Given the description of an element on the screen output the (x, y) to click on. 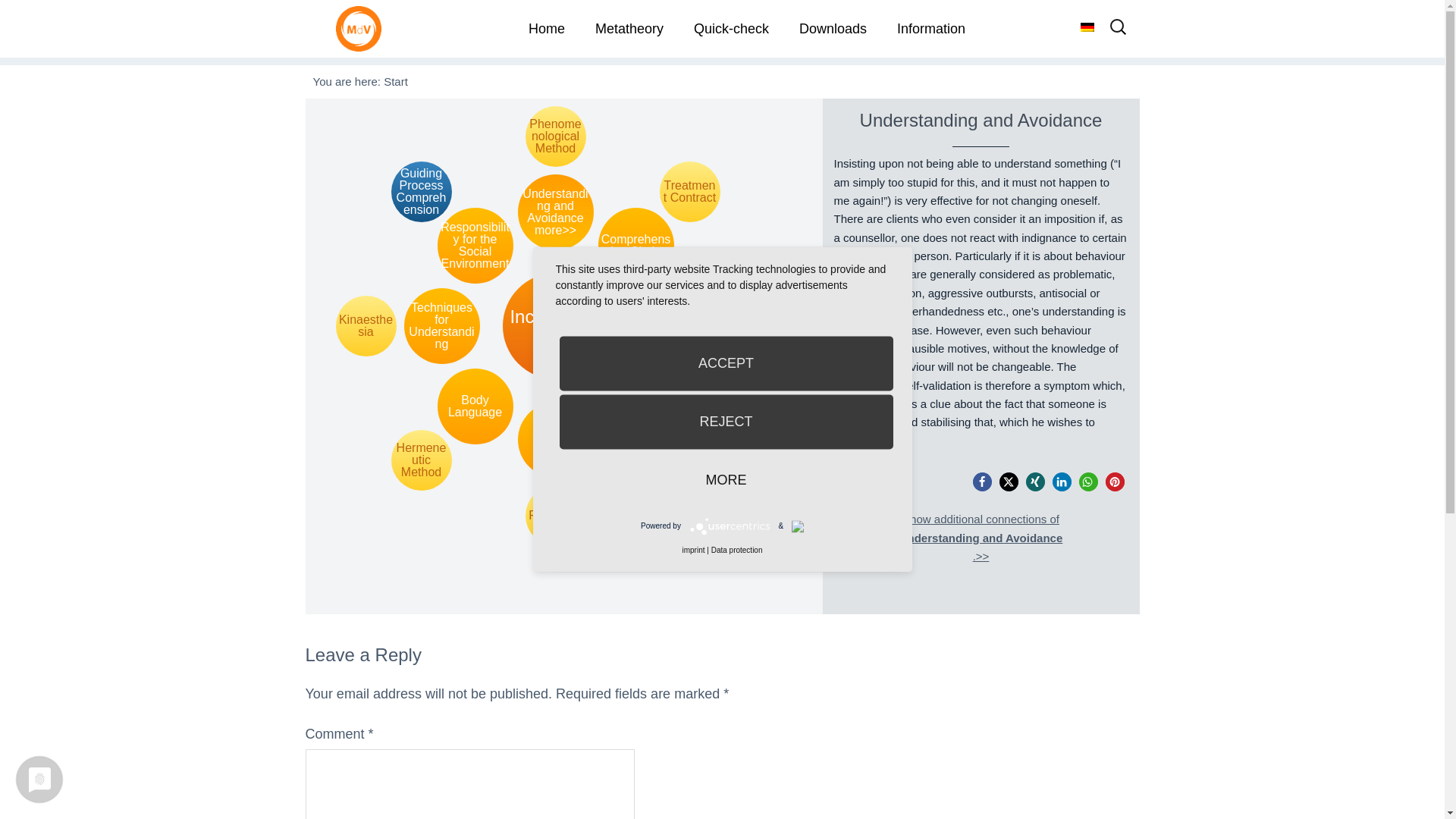
Feedback (554, 515)
Phenomenological Method (554, 136)
Search for: (1118, 31)
Quick-check (731, 28)
Hermeneutic Method (421, 459)
Lack of Self-Expression (668, 325)
Incongruence (555, 325)
Techniques for Understanding (441, 325)
Guiding Process Comprehension (421, 191)
Information (930, 28)
First Impression (689, 459)
Body Language (474, 406)
Intuition (554, 439)
